Given the description of an element on the screen output the (x, y) to click on. 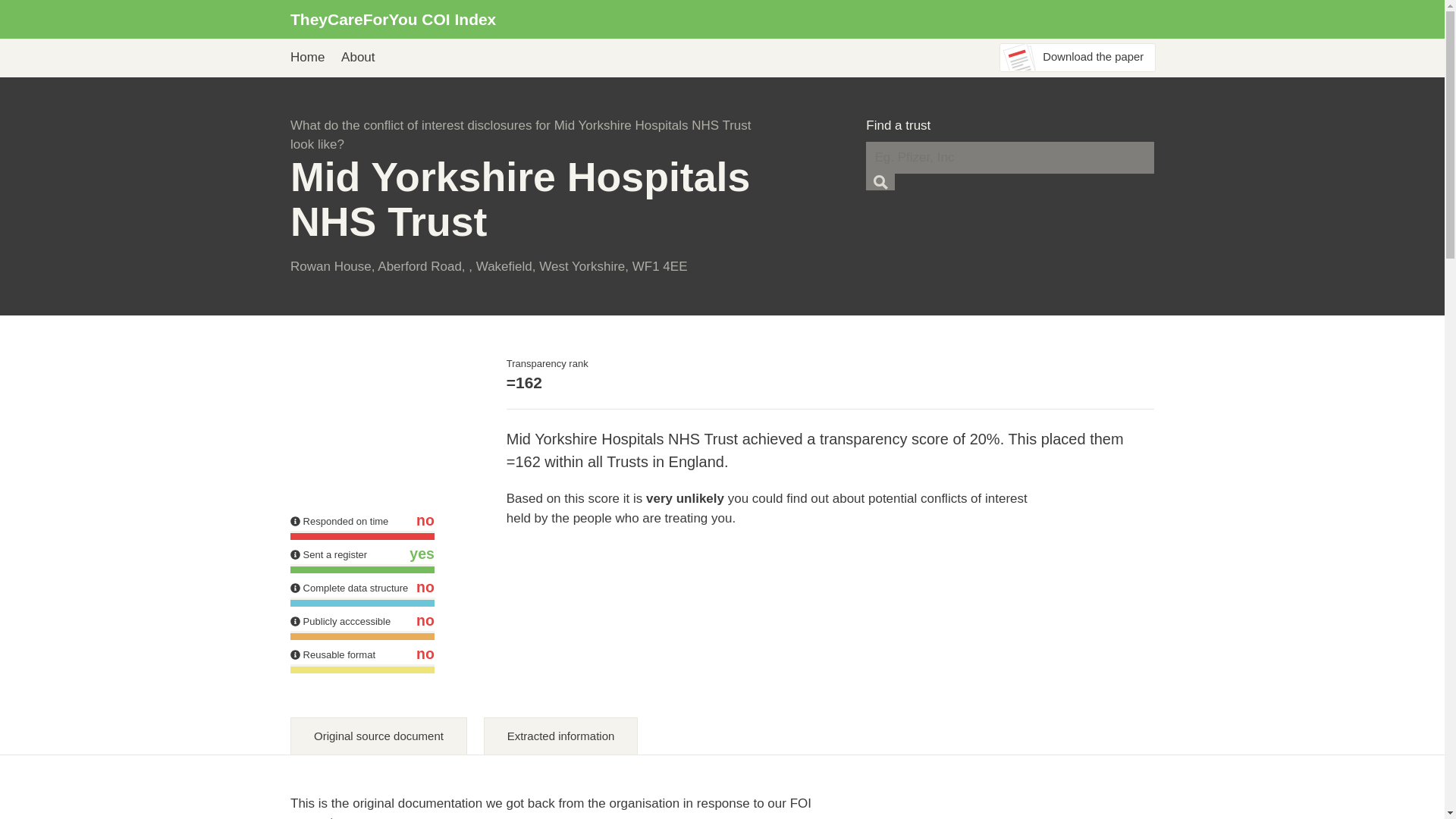
Original source document (378, 736)
TheyCareForYou COI Index (392, 19)
Download the paper (1077, 57)
Search (880, 181)
Search (880, 181)
Extracted information (561, 736)
Search (880, 181)
